Given the description of an element on the screen output the (x, y) to click on. 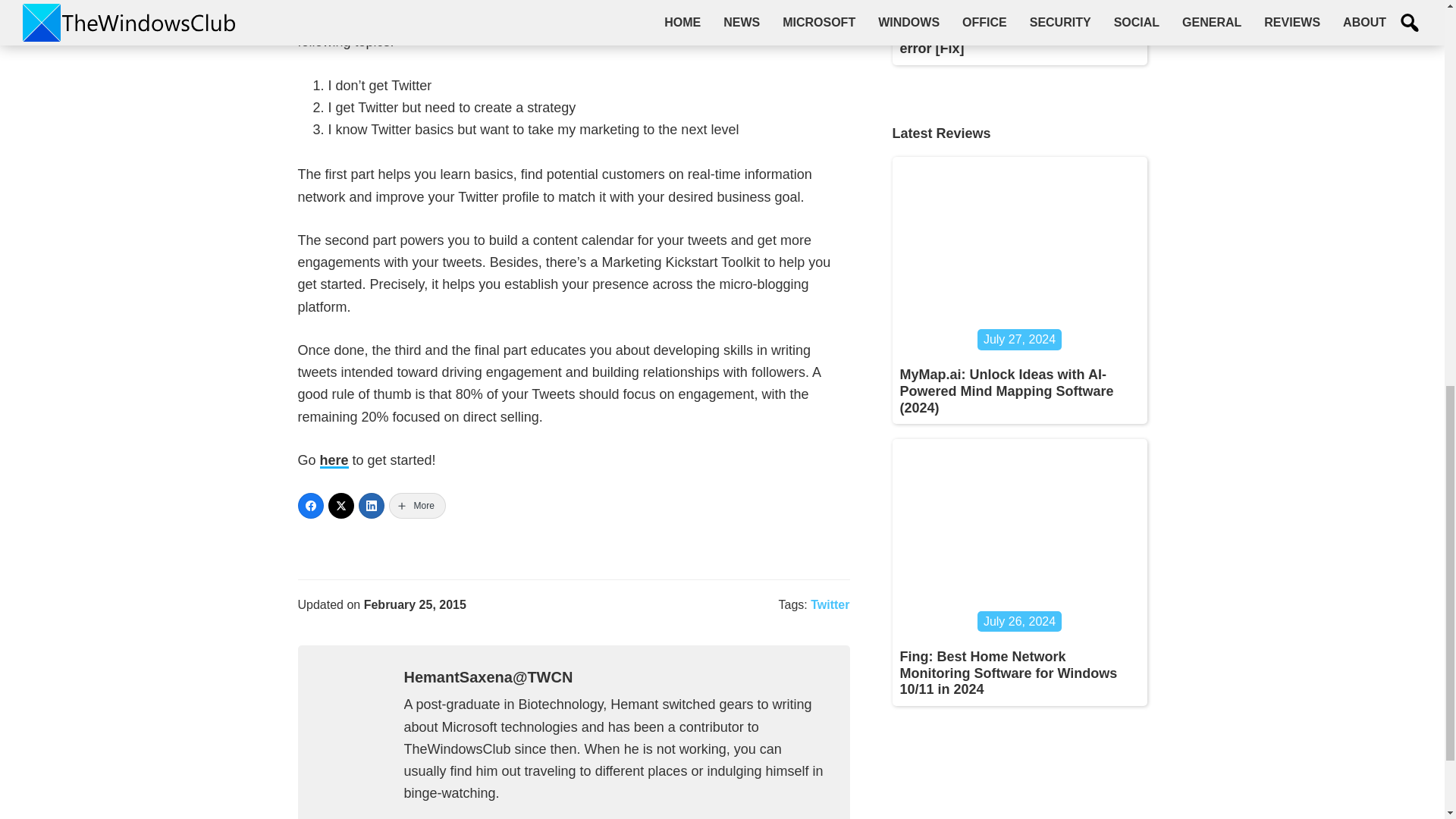
Twitter (829, 604)
More (416, 505)
here (334, 460)
